Given the description of an element on the screen output the (x, y) to click on. 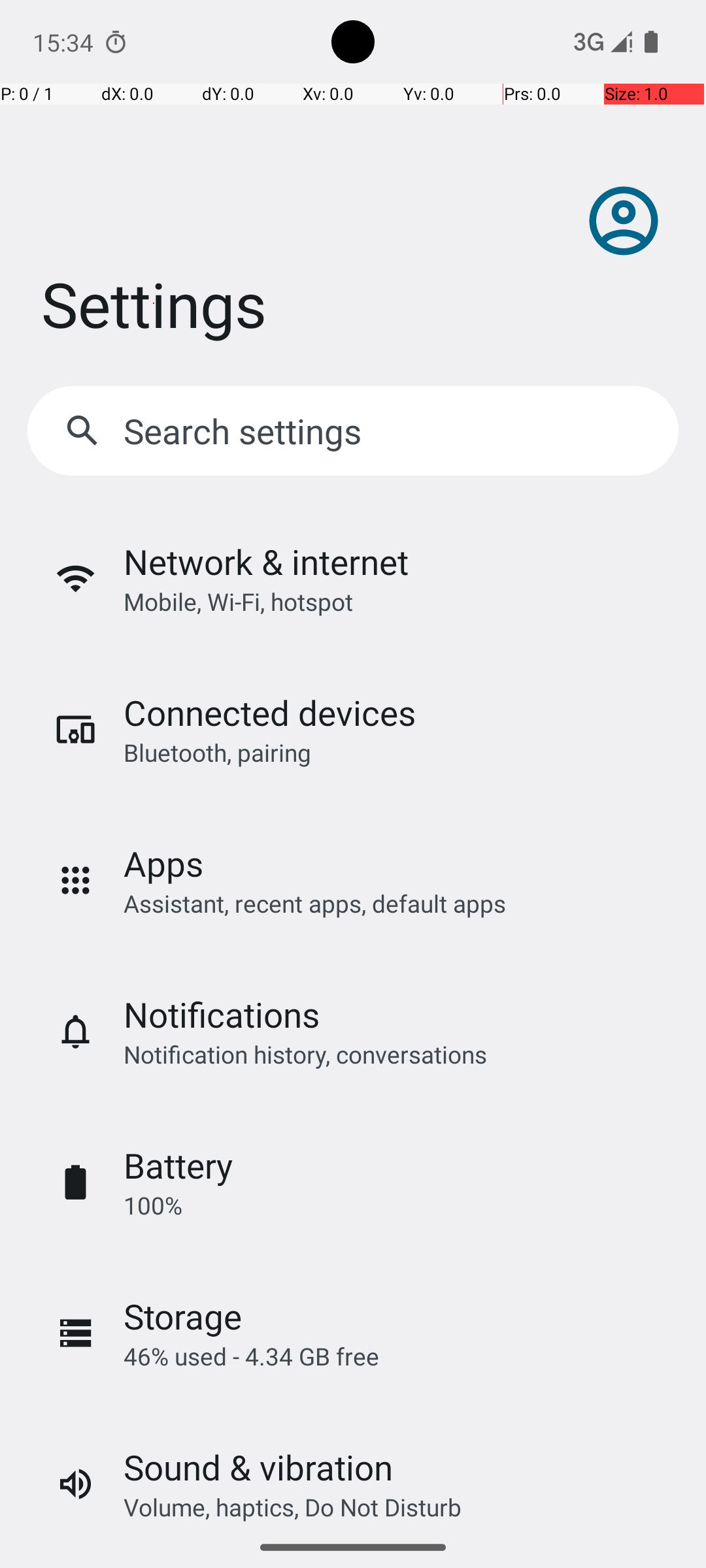
46% used - 4.34 GB free Element type: android.widget.TextView (251, 1355)
